Given the description of an element on the screen output the (x, y) to click on. 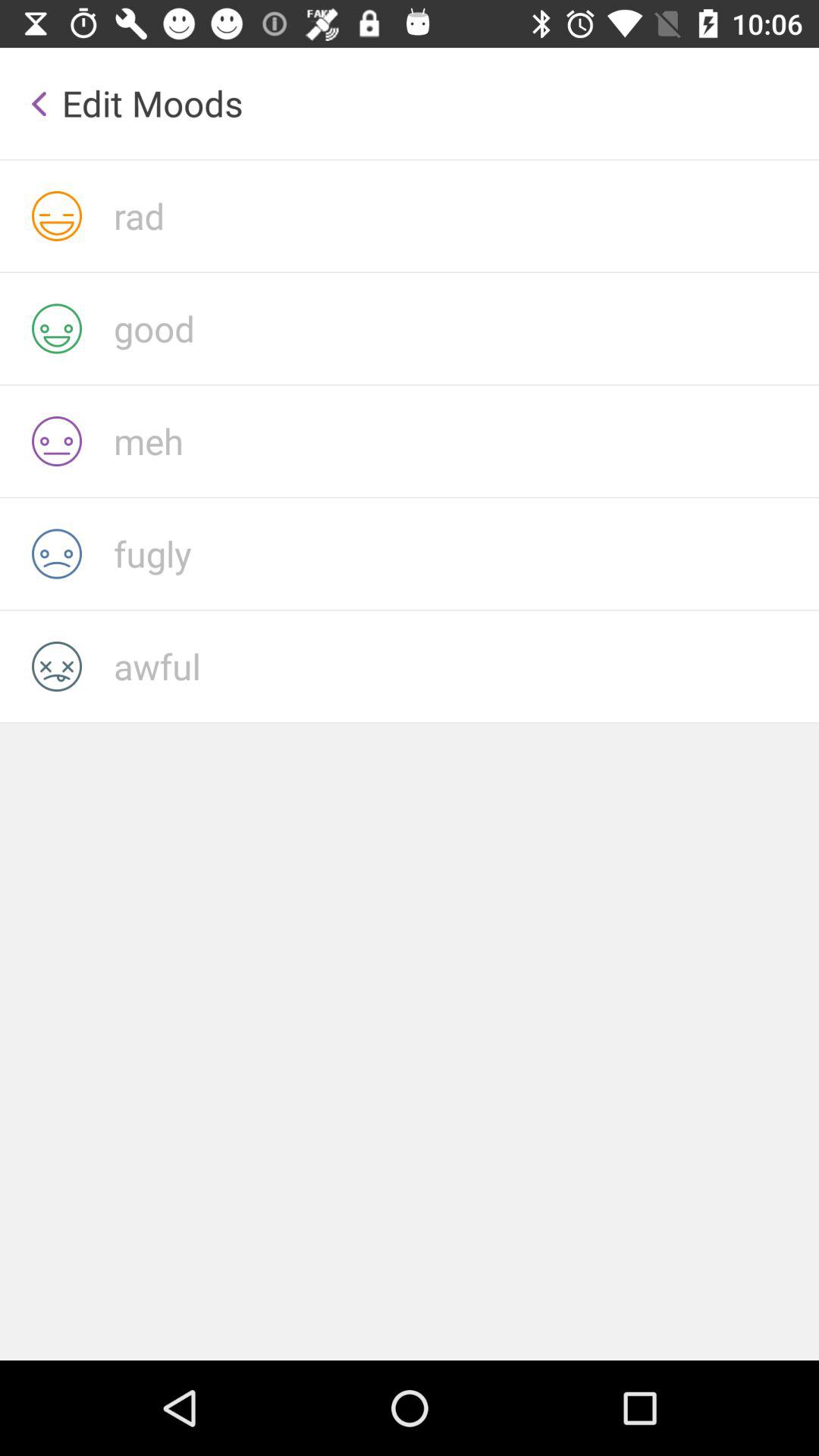
select rad with current mood (466, 215)
